Given the description of an element on the screen output the (x, y) to click on. 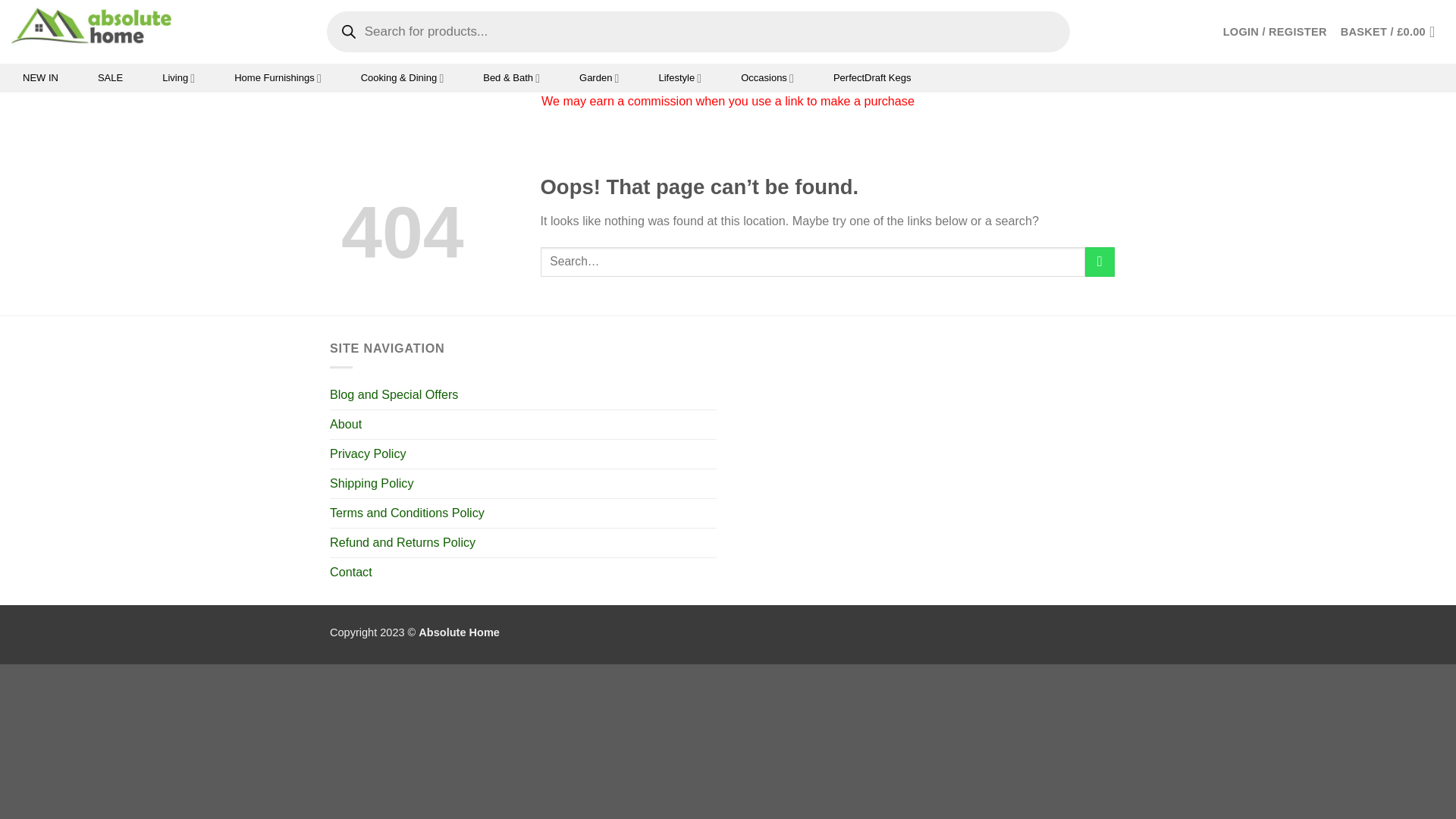
Basket (1392, 31)
Living (178, 77)
Absolute Home (91, 31)
NEW IN (40, 77)
SALE (109, 77)
Login (1274, 31)
